Given the description of an element on the screen output the (x, y) to click on. 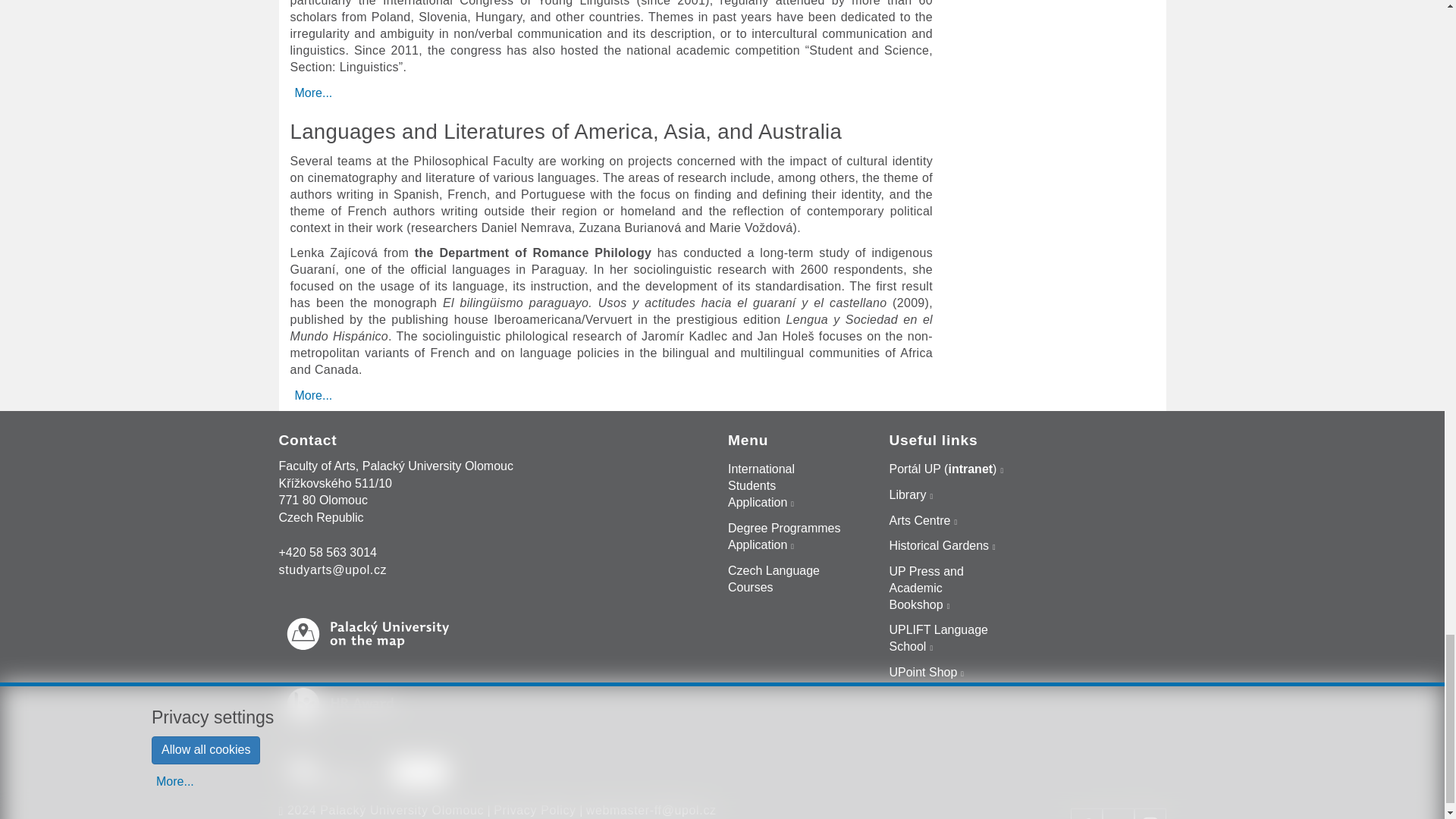
Czech for Foreigners (785, 578)
More... (312, 93)
Opens internal link in current window (922, 521)
More... (312, 395)
Opens internal link in current window (945, 470)
Opens internal link in current window (945, 589)
Opens internal link in current window (785, 486)
Opens internal link in current window (945, 639)
Olomouc Region (331, 772)
Opens internal link in current window (910, 495)
HR Award (377, 704)
Opens internal link in current window (941, 546)
Opens internal link in current window (926, 673)
Opens internal link in current window (785, 537)
UP on the map (377, 633)
